Given the description of an element on the screen output the (x, y) to click on. 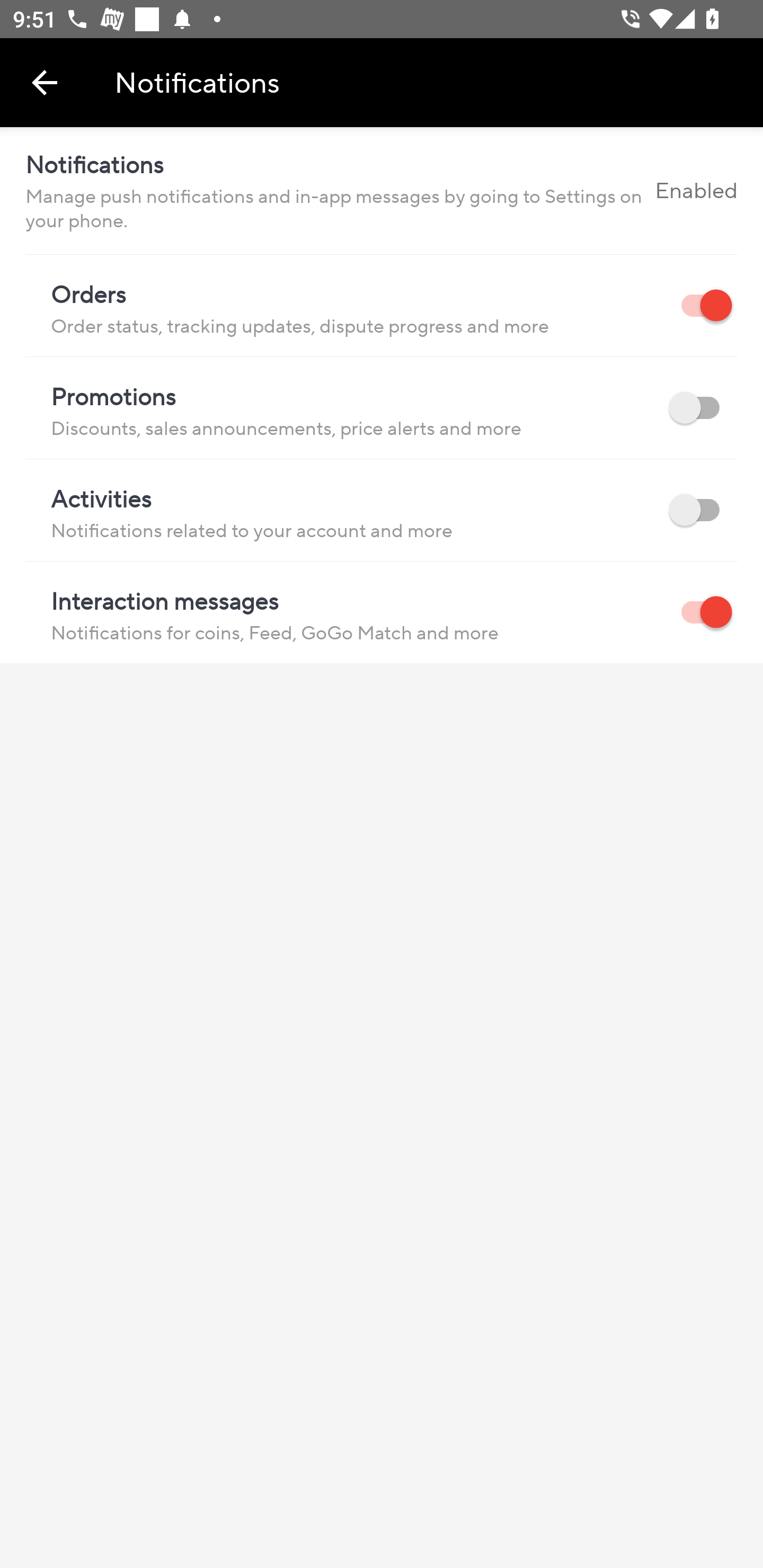
Navigate up (44, 82)
